Given the description of an element on the screen output the (x, y) to click on. 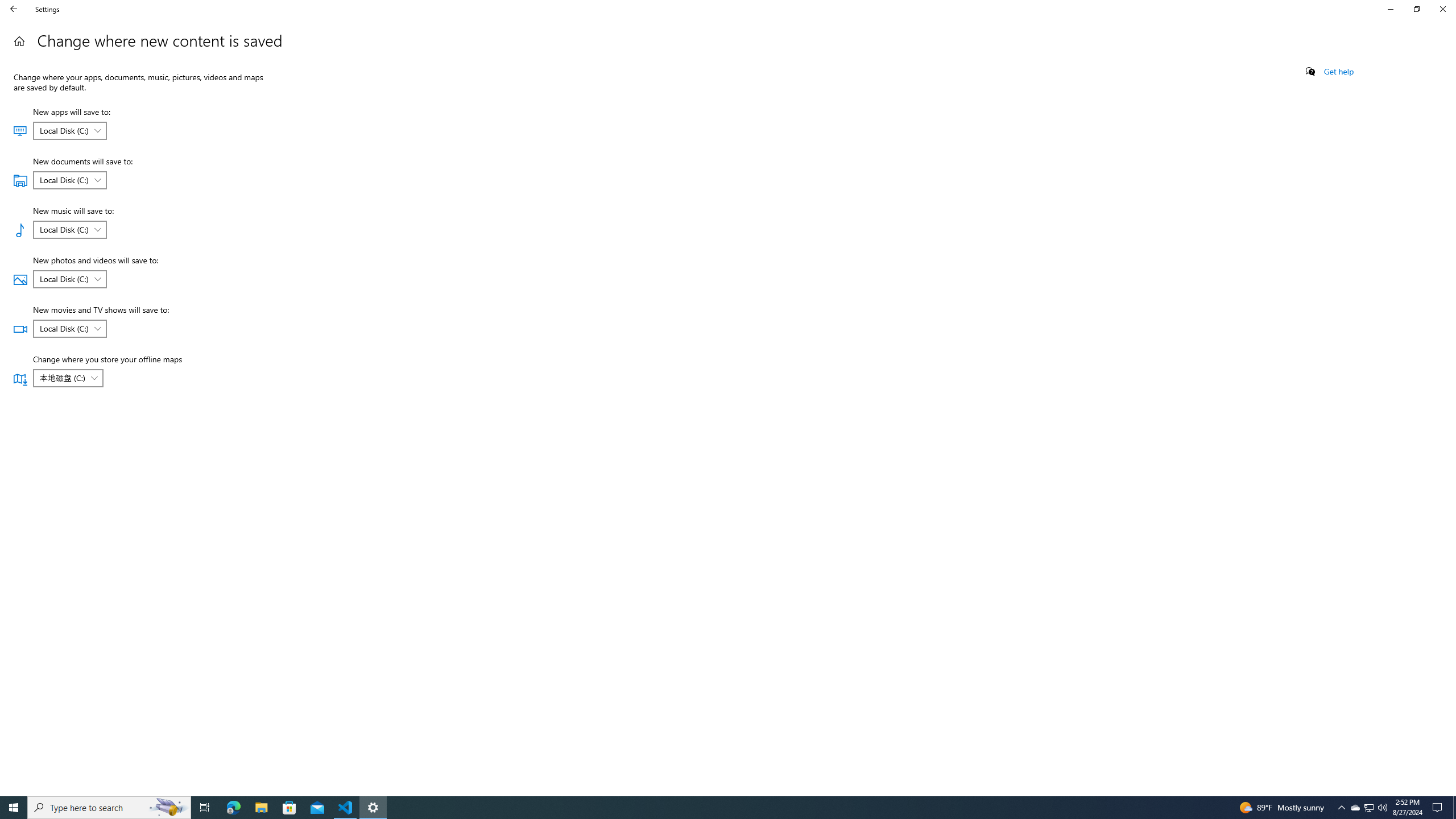
Show desktop (1368, 807)
Back (1454, 807)
File Explorer (13, 9)
Change where you store your offline maps (261, 807)
Home (68, 378)
Q2790: 100% (19, 40)
New documents will save to: (1382, 807)
Running applications (69, 180)
New movies and TV shows will save to: (1355, 807)
Start (717, 807)
New apps will save to: (69, 328)
New music will save to: (13, 807)
